Given the description of an element on the screen output the (x, y) to click on. 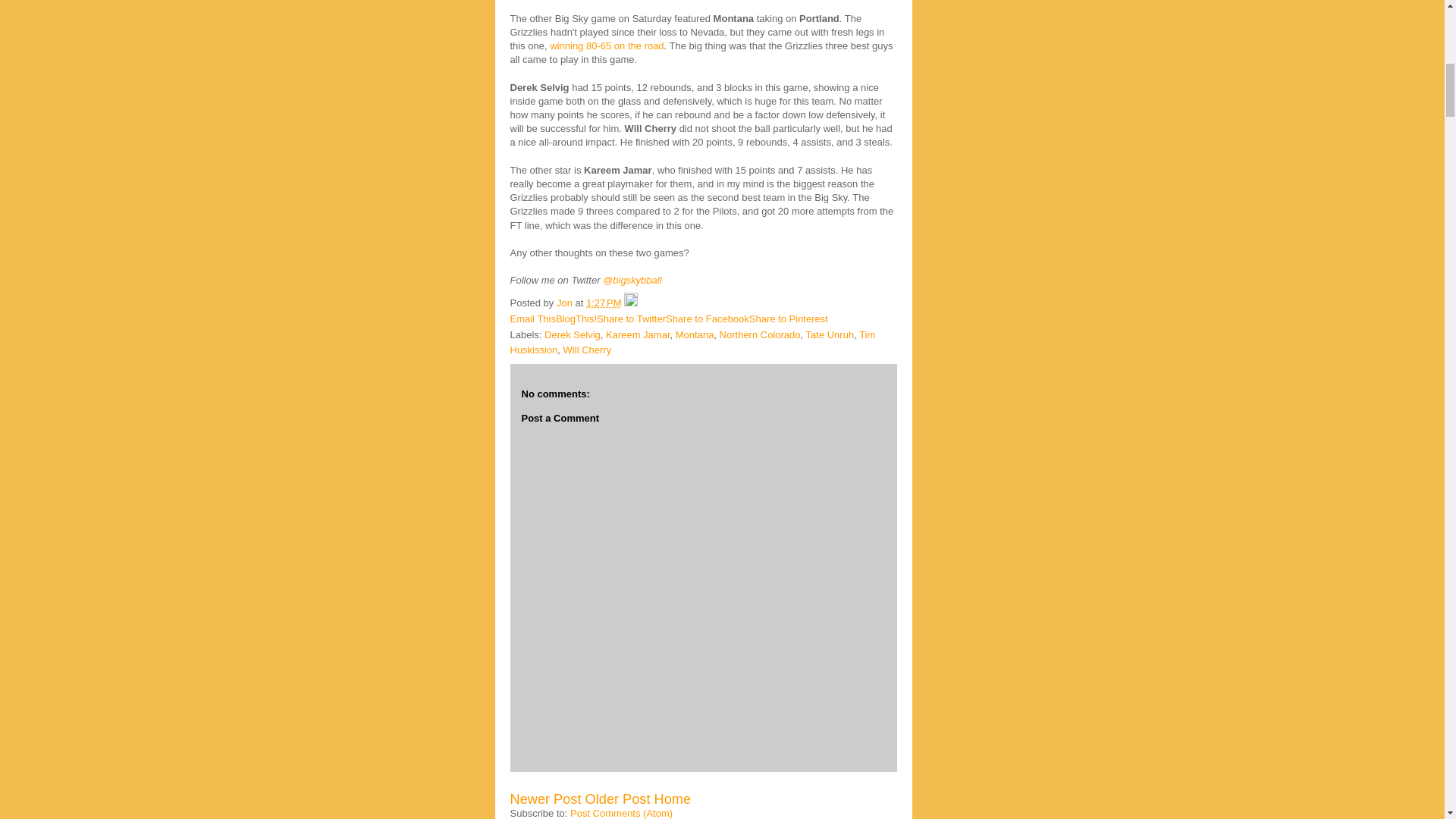
Home (672, 798)
Will Cherry (587, 349)
Share to Facebook (707, 318)
Older Post (617, 798)
Tate Unruh (830, 334)
Email This (531, 318)
Kareem Jamar (637, 334)
Email This (531, 318)
Share to Twitter (630, 318)
Tim Huskission (692, 342)
author profile (565, 302)
BlogThis! (576, 318)
Edit Post (630, 302)
Share to Facebook (707, 318)
